Given the description of an element on the screen output the (x, y) to click on. 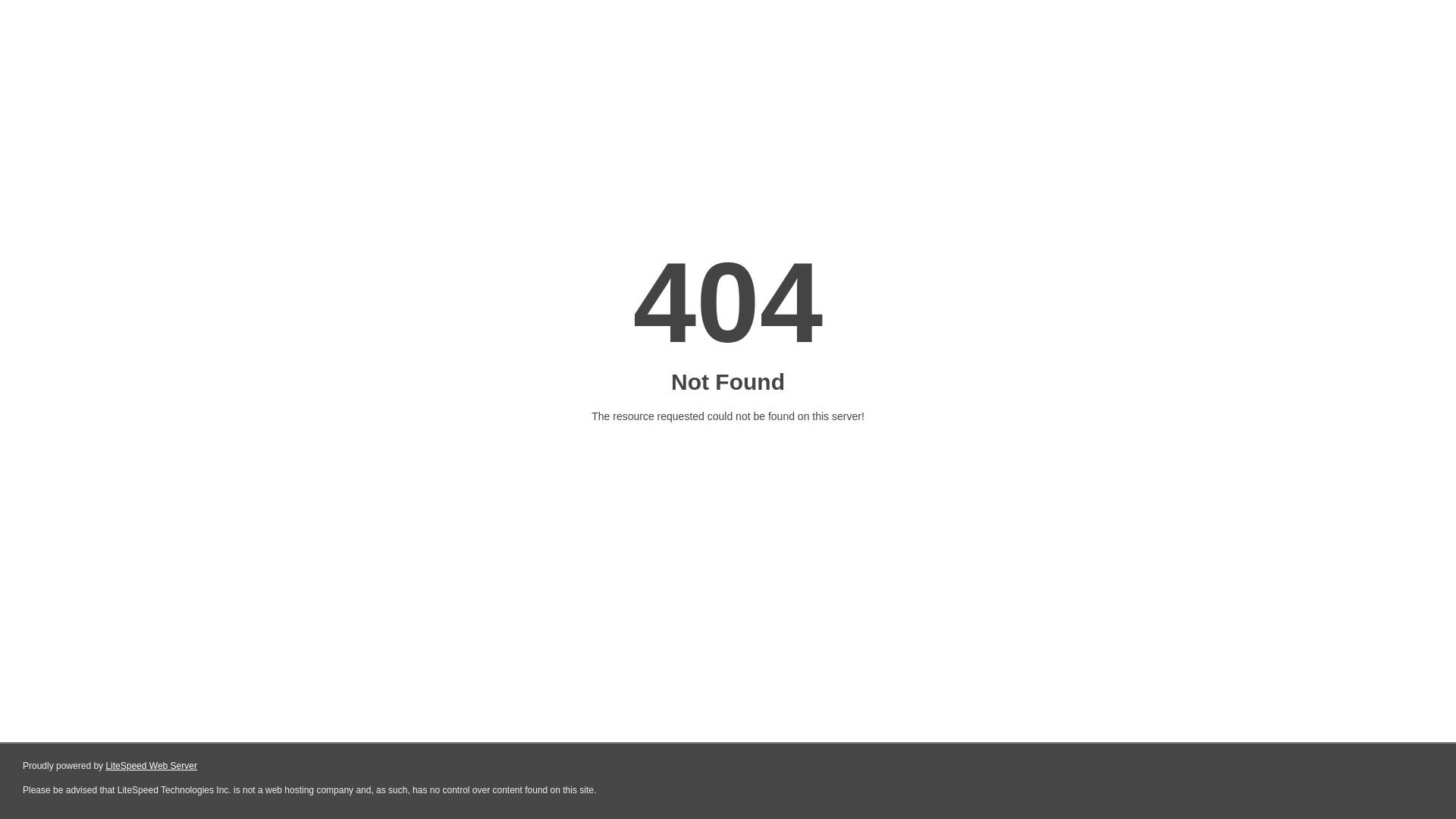
LiteSpeed Web Server Element type: text (151, 765)
